Given the description of an element on the screen output the (x, y) to click on. 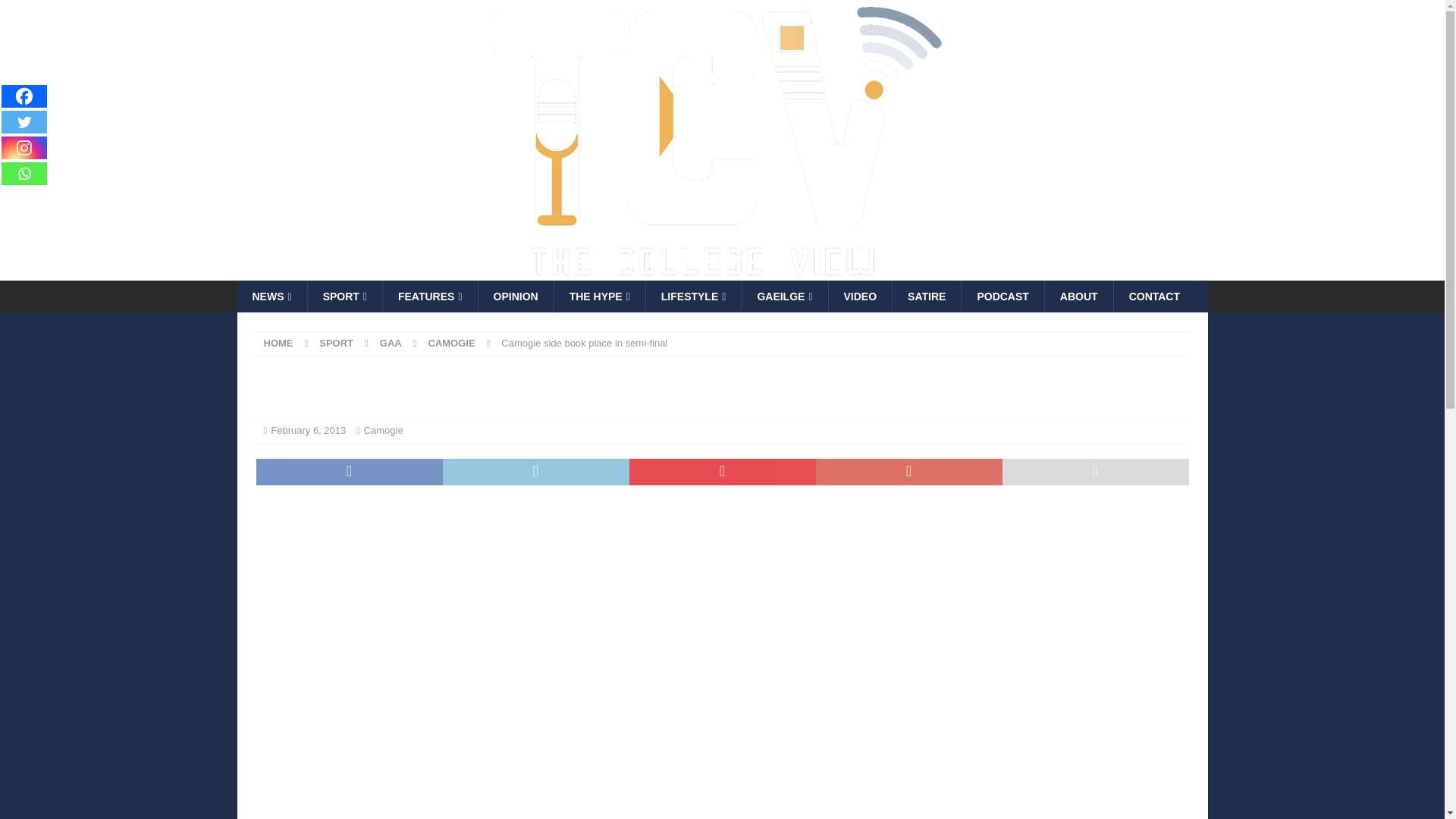
Camogie (383, 430)
CONTACT (1154, 296)
CAMOGIE (451, 342)
SPORT (344, 296)
THE HYPE (599, 296)
VIDEO (860, 296)
ABOUT (1078, 296)
OPINION (515, 296)
The College View (683, 272)
GAEILGE (784, 296)
